Given the description of an element on the screen output the (x, y) to click on. 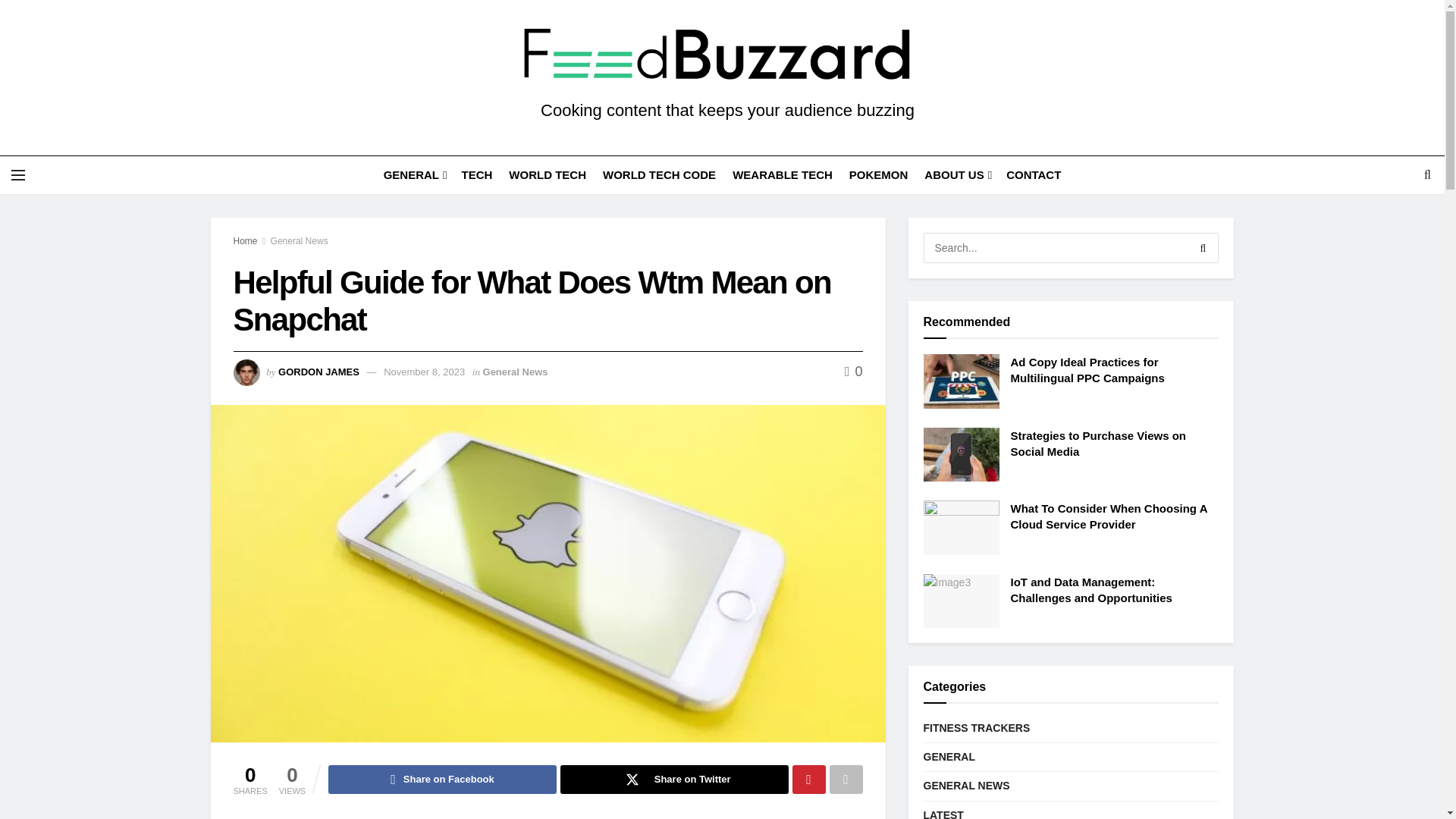
POKEMON (878, 174)
WORLD TECH (547, 174)
GENERAL (414, 174)
TECH (476, 174)
WORLD TECH CODE (659, 174)
0 (853, 371)
ABOUT US (957, 174)
WEARABLE TECH (782, 174)
General News (515, 371)
November 8, 2023 (424, 371)
